Given the description of an element on the screen output the (x, y) to click on. 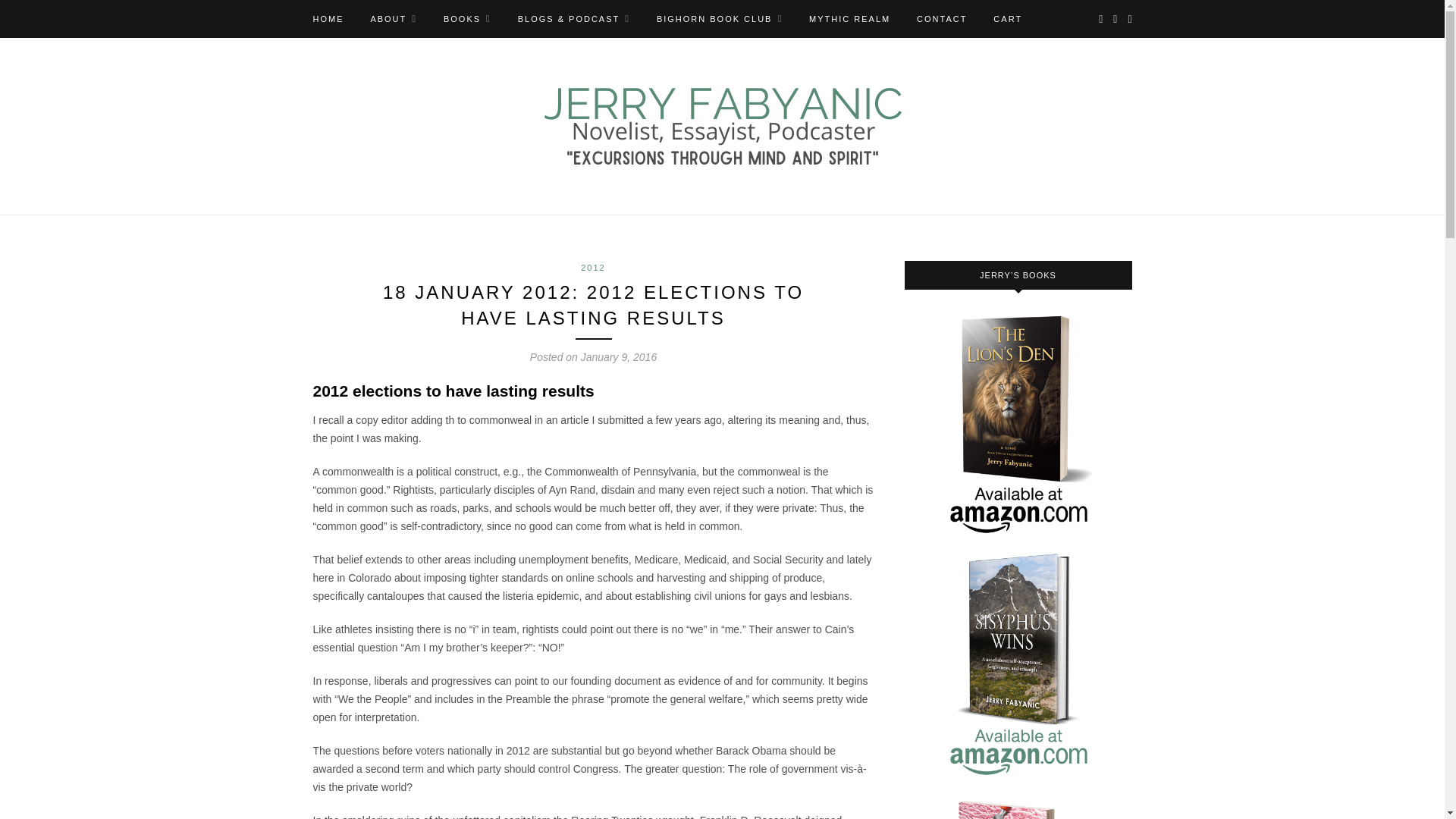
BIGHORN BOOK CLUB (719, 18)
ABOUT (392, 18)
MYTHIC REALM (849, 18)
CONTACT (941, 18)
BOOKS (468, 18)
